Given the description of an element on the screen output the (x, y) to click on. 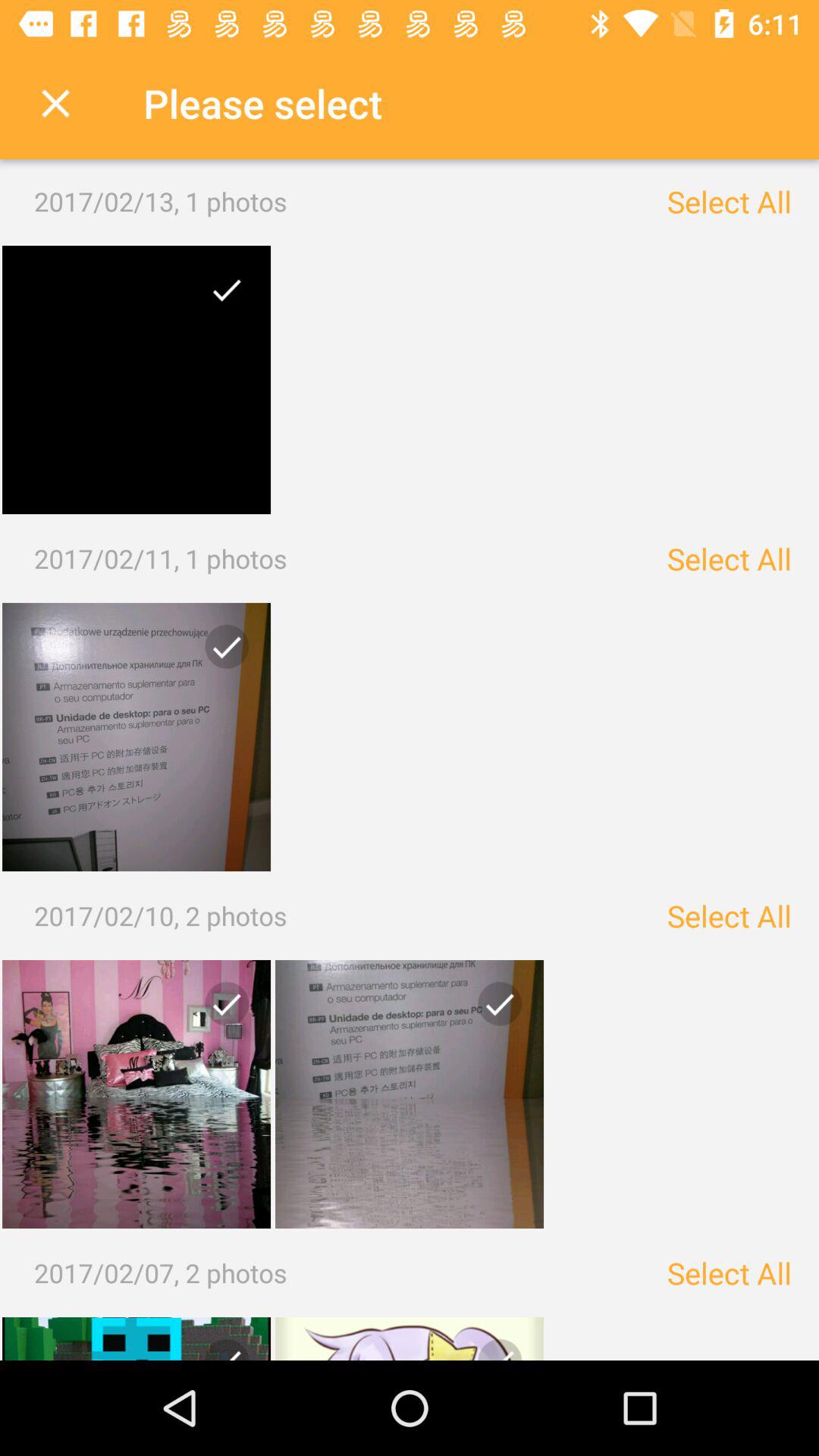
select picture (136, 736)
